Given the description of an element on the screen output the (x, y) to click on. 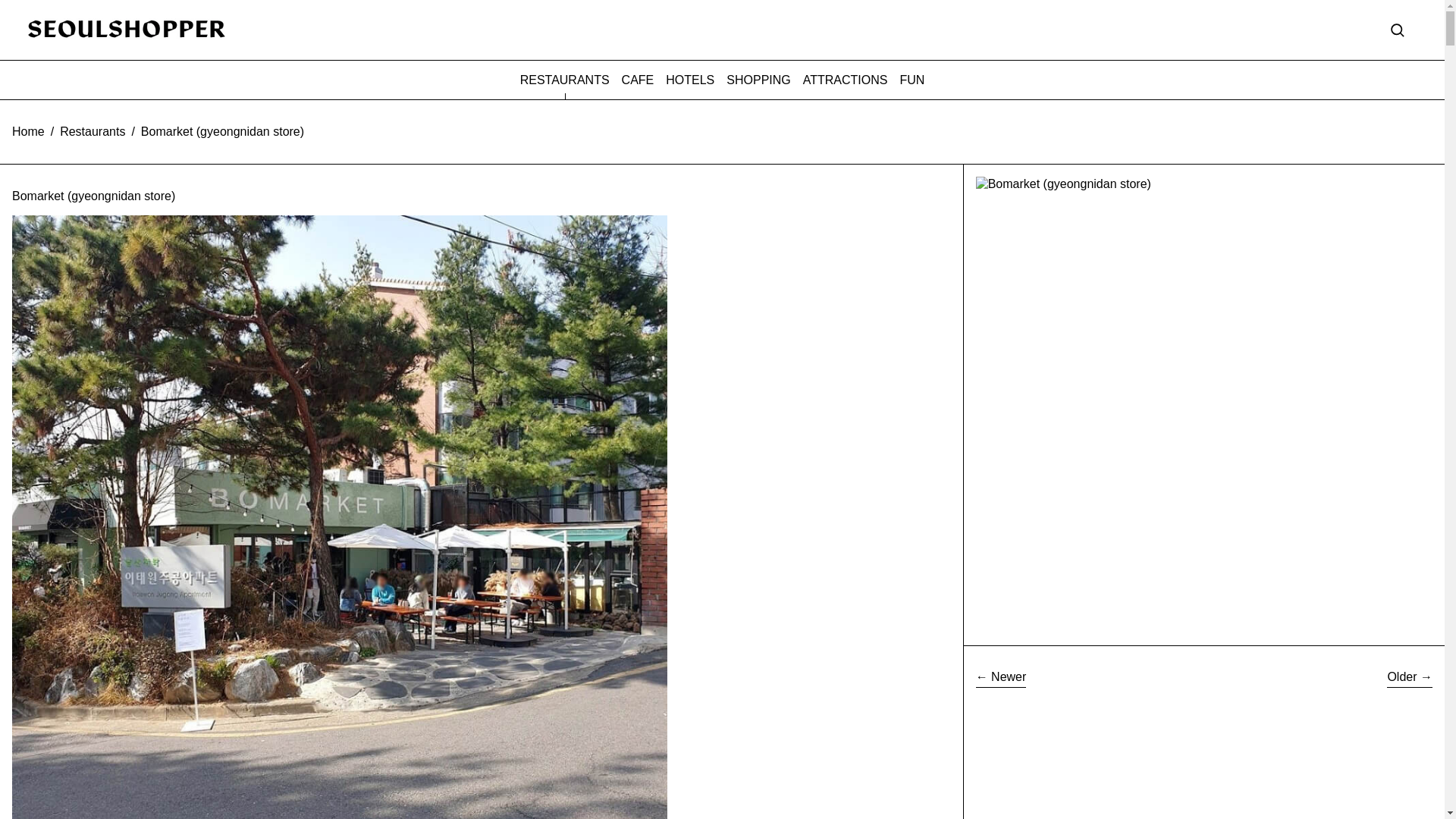
RESTAURANTS (564, 79)
Restaurants (92, 131)
HOTELS (689, 79)
CAFE (637, 79)
FUN (911, 79)
Newer (1000, 678)
ATTRACTIONS (845, 79)
Older (1409, 678)
SHOPPING (758, 79)
